Given the description of an element on the screen output the (x, y) to click on. 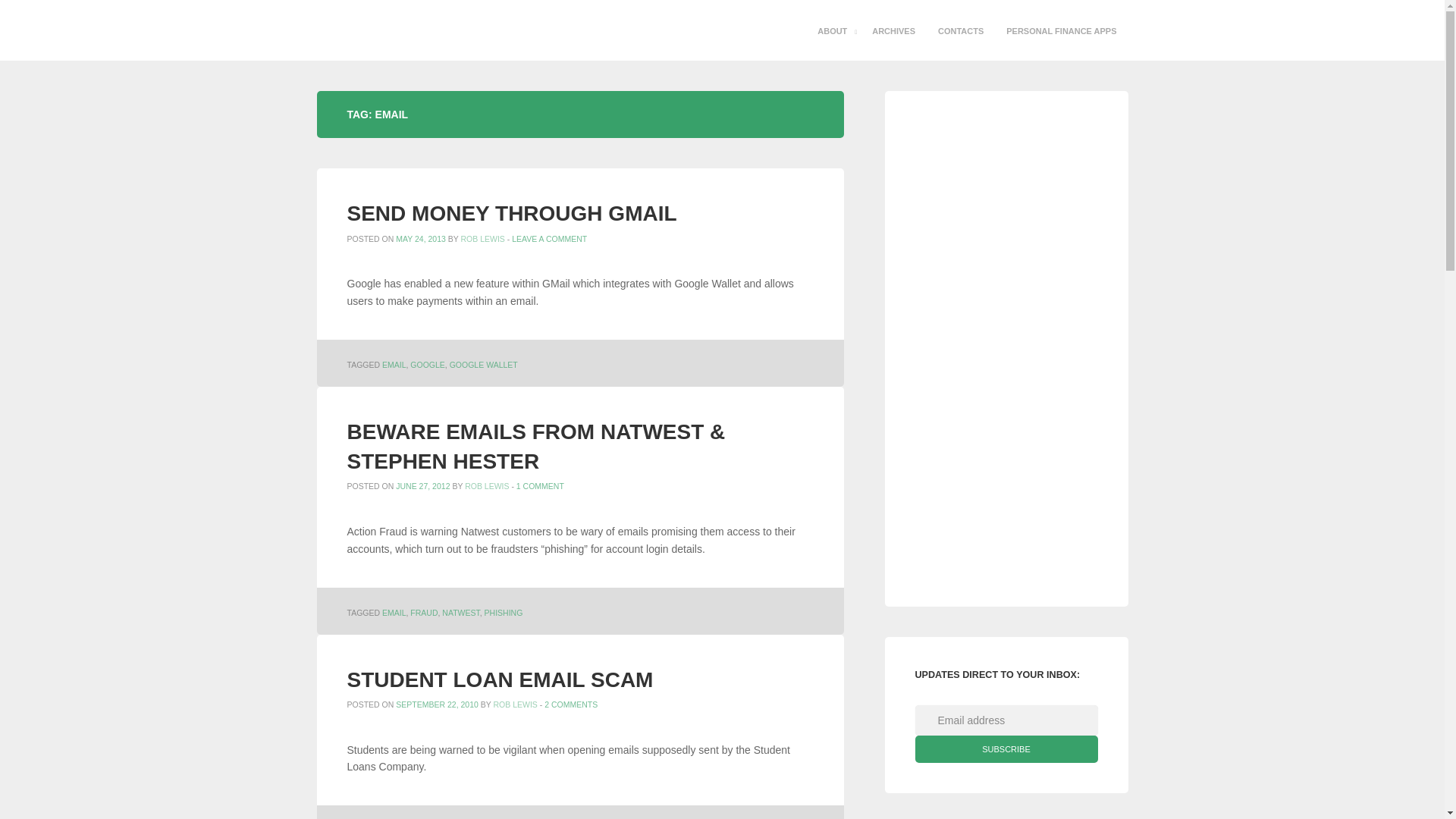
SEND MONEY THROUGH GMAIL (512, 213)
PERSONAL FINANCE APPS (1060, 30)
EMAIL (393, 364)
ROB LEWIS (486, 485)
1 COMMENT (540, 485)
LEAVE A COMMENT (549, 238)
EMAIL (393, 612)
GOOGLE WALLET (483, 364)
Email address (1005, 720)
NATWEST (460, 612)
